Given the description of an element on the screen output the (x, y) to click on. 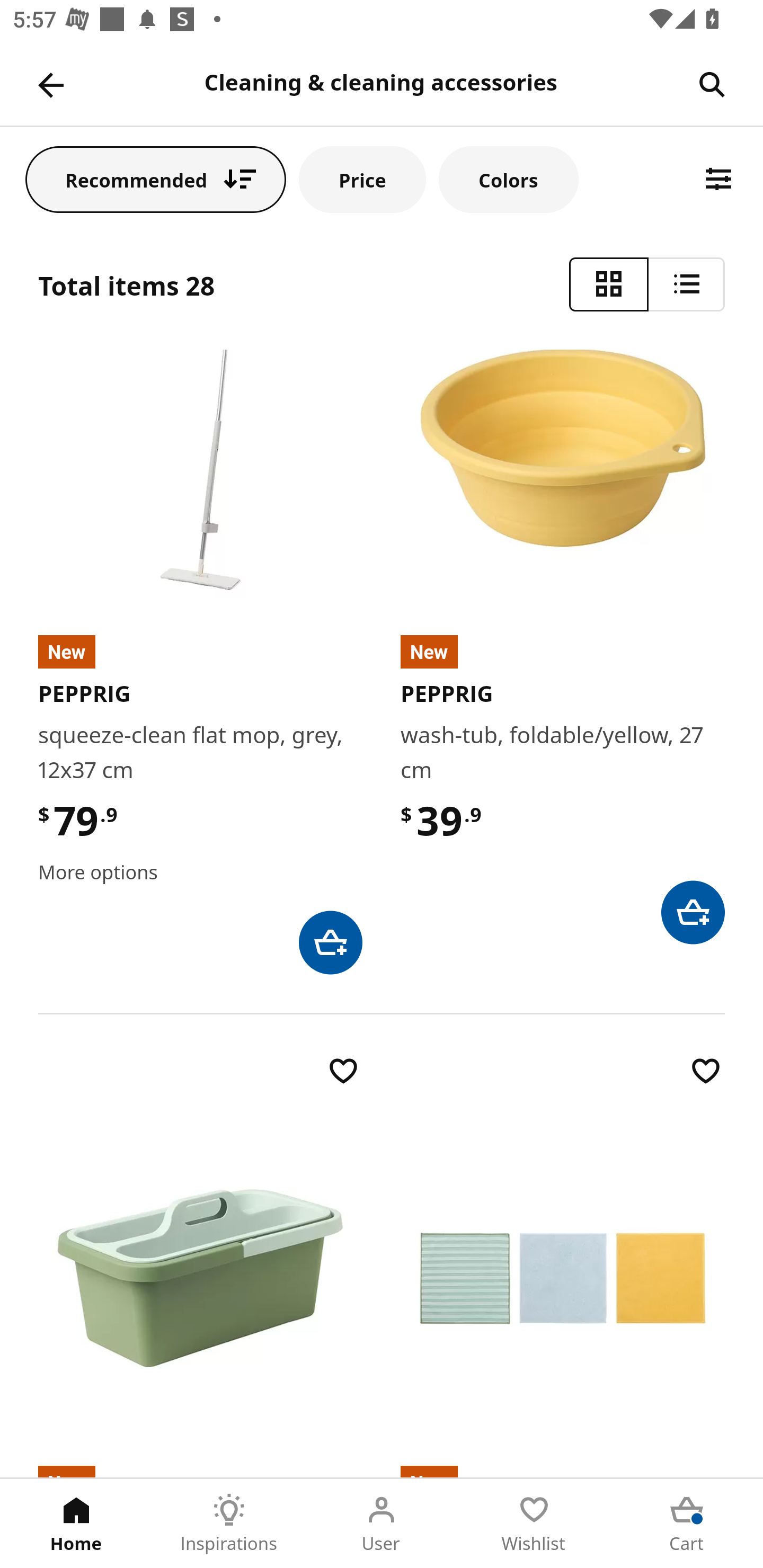
Recommended (155, 179)
Price (362, 179)
Colors (508, 179)
Home
Tab 1 of 5 (76, 1522)
Inspirations
Tab 2 of 5 (228, 1522)
User
Tab 3 of 5 (381, 1522)
Wishlist
Tab 4 of 5 (533, 1522)
Cart
Tab 5 of 5 (686, 1522)
